Given the description of an element on the screen output the (x, y) to click on. 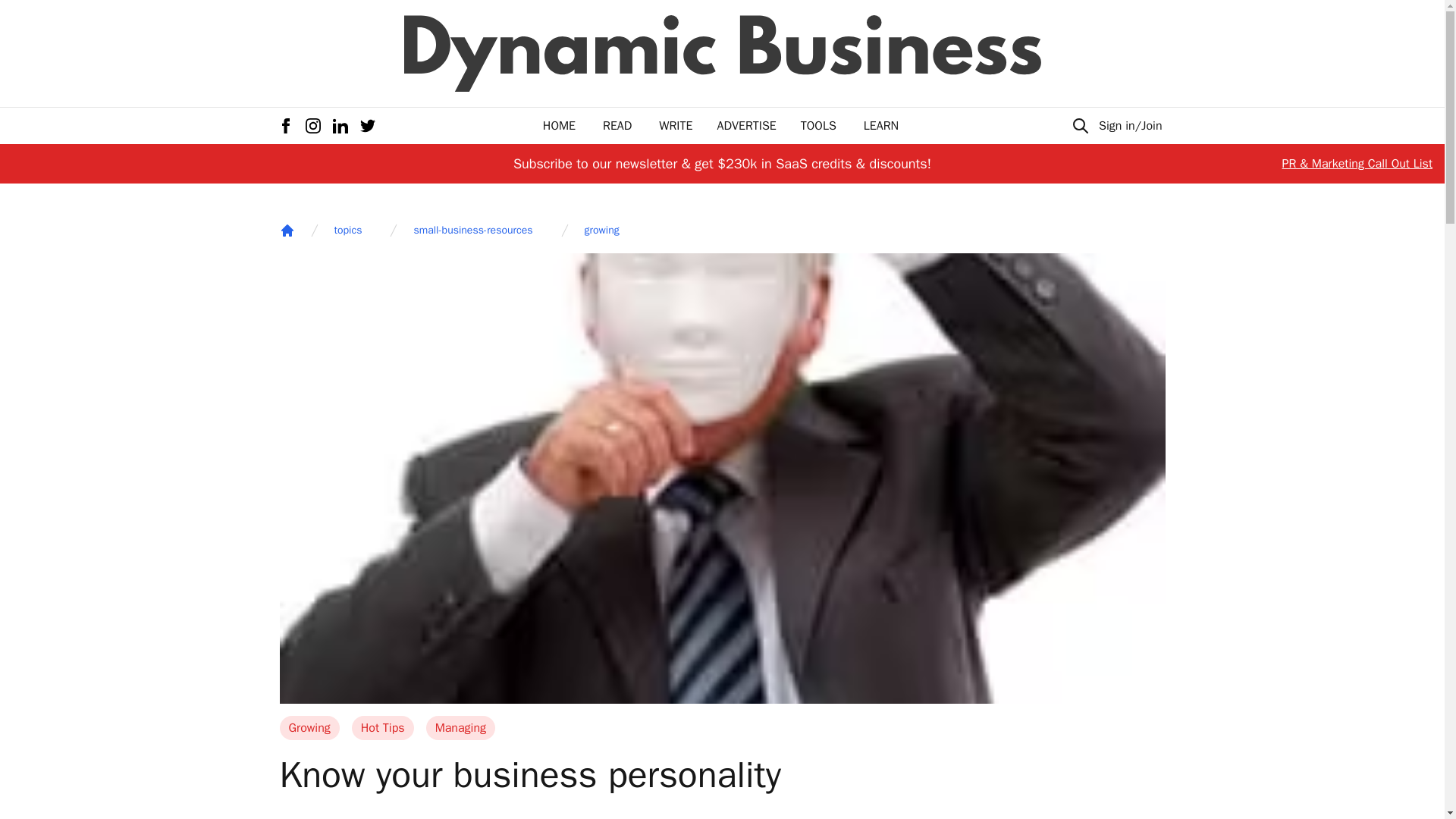
topics (347, 230)
HOME (559, 126)
WRITE (676, 126)
Managing (460, 727)
ADVERTISE (746, 126)
Growing (309, 727)
READ (616, 126)
growing (602, 230)
Hot Tips (382, 727)
small-business-resources (472, 230)
